Given the description of an element on the screen output the (x, y) to click on. 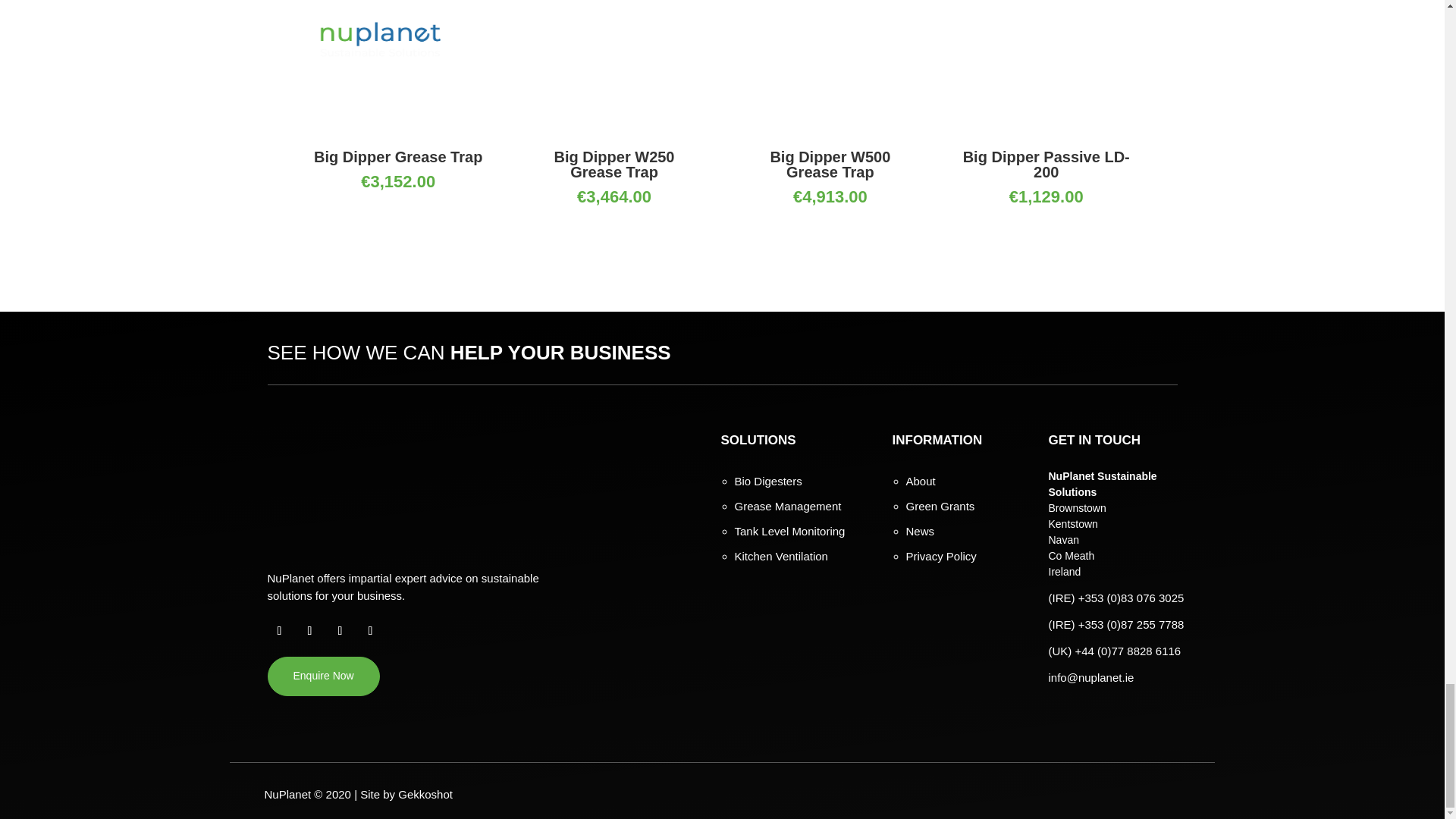
Follow on Facebook (278, 630)
Follow on Instagram (339, 630)
Follow on Twitter (309, 630)
